Given the description of an element on the screen output the (x, y) to click on. 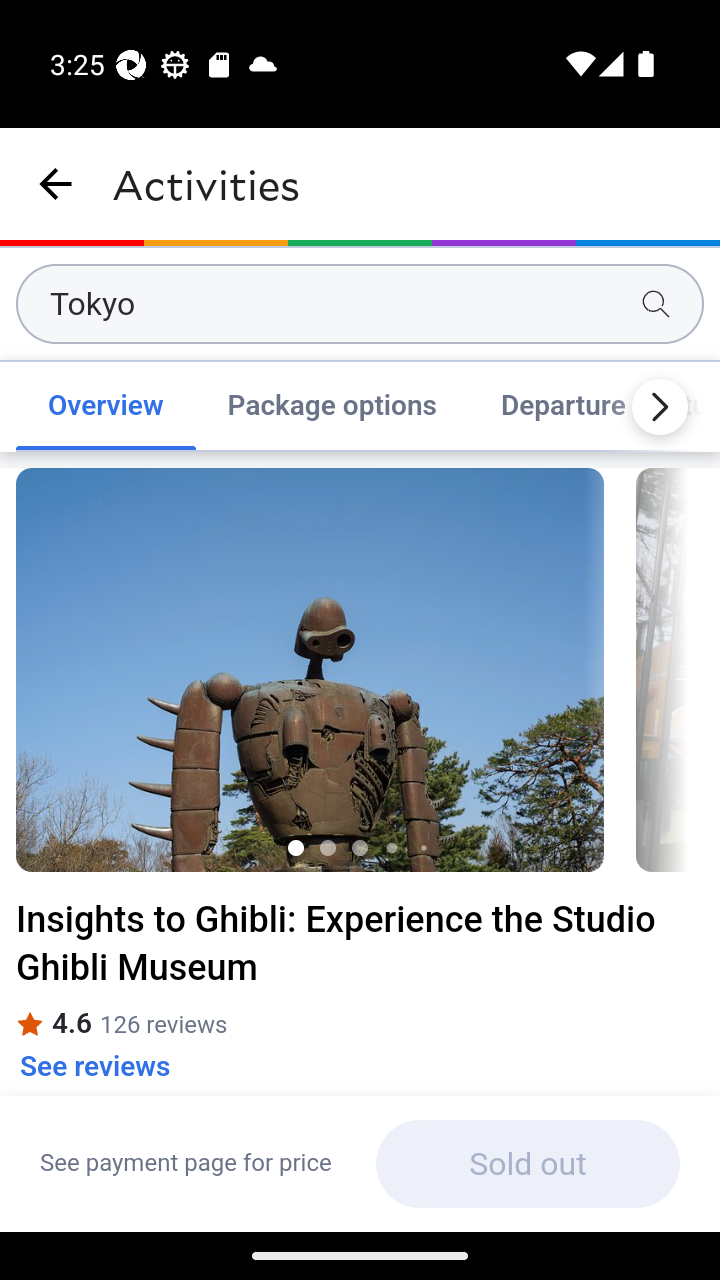
navigation_button (56, 184)
Tokyo (359, 303)
Search (655, 303)
Overview (105, 405)
Package options (332, 405)
Departure & return (589, 405)
See reviews (95, 1066)
Sold out (527, 1164)
